Given the description of an element on the screen output the (x, y) to click on. 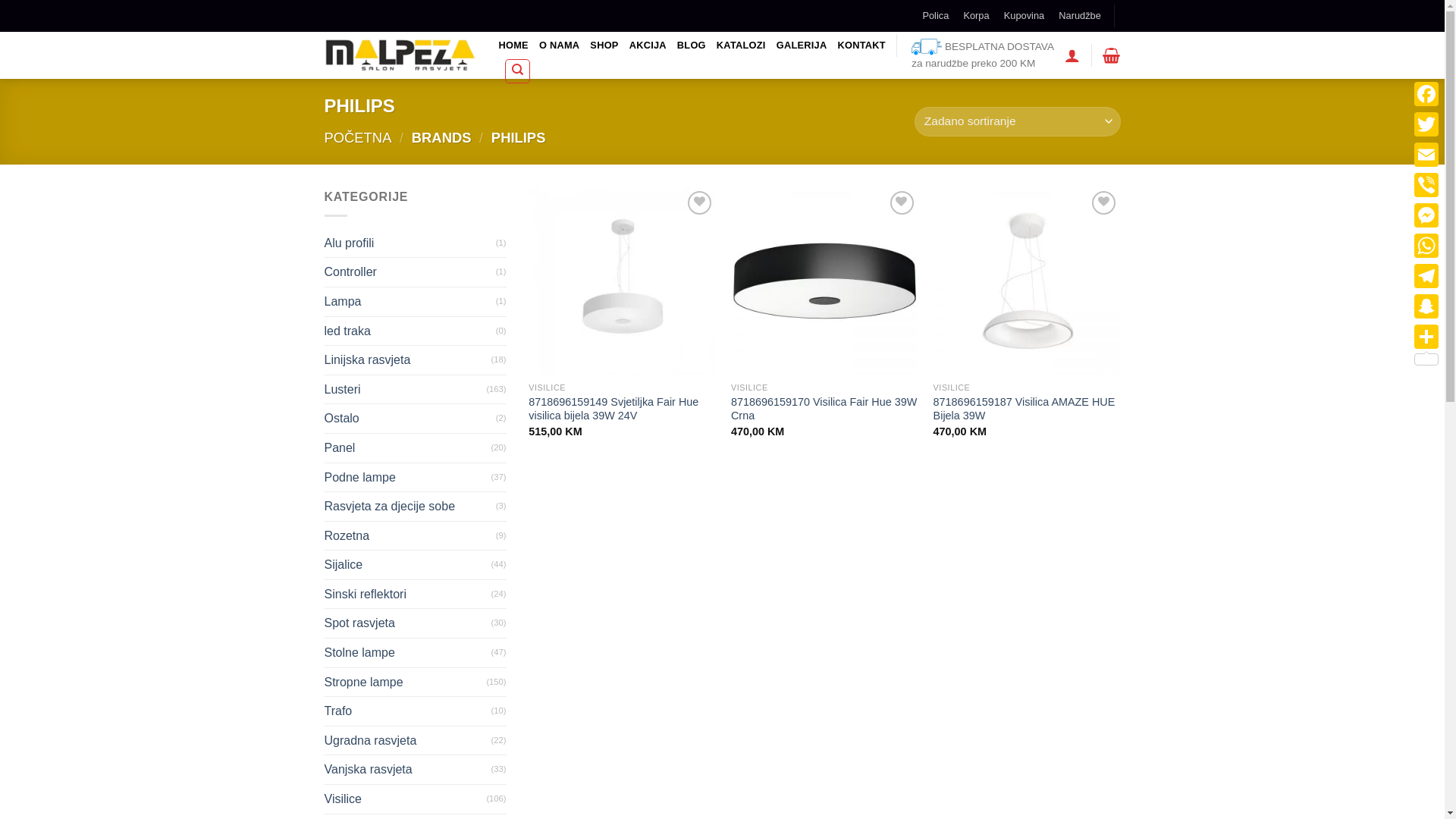
Stropne lampe Element type: text (405, 682)
Rasvjeta za djecije sobe Element type: text (409, 506)
Snapchat Element type: text (1426, 306)
Trafo Element type: text (407, 710)
KONTAKT Element type: text (860, 45)
8718696159170 Visilica Fair Hue 39W Crna Element type: text (824, 409)
Linijska rasvjeta Element type: text (407, 359)
SHOP Element type: text (603, 45)
Lampa Element type: text (409, 301)
Alu profili Element type: text (409, 243)
Spot rasvjeta Element type: text (407, 622)
Share Element type: text (1426, 344)
Lusteri Element type: text (405, 389)
Ostalo Element type: text (409, 418)
Visilice Element type: text (405, 798)
Sinski reflektori Element type: text (407, 594)
O NAMA Element type: text (559, 45)
WhatsApp Element type: text (1426, 245)
Korpa Element type: text (976, 15)
Polica Element type: text (935, 15)
Podne lampe Element type: text (407, 477)
8718696159149 Svjetiljka Fair Hue visilica bijela 39W 24V Element type: text (621, 409)
Sijalice Element type: text (407, 564)
Rozetna Element type: text (409, 535)
led traka Element type: text (409, 330)
Vanjska rasvjeta Element type: text (407, 769)
GALERIJA Element type: text (801, 45)
Telegram Element type: text (1426, 275)
Facebook Element type: text (1426, 93)
Viber Element type: text (1426, 184)
AKCIJA Element type: text (647, 45)
Twitter Element type: text (1426, 124)
8718696159187 Visilica AMAZE HUE Bijela 39W Element type: text (1026, 409)
Messenger Element type: text (1426, 215)
Ugradna rasvjeta Element type: text (407, 740)
Email Element type: text (1426, 154)
Panel Element type: text (407, 447)
BLOG Element type: text (691, 45)
Korpa Element type: hover (1111, 55)
HOME Element type: text (513, 45)
Stolne lampe Element type: text (407, 652)
Kupovina Element type: text (1023, 15)
Controller Element type: text (409, 271)
KATALOZI Element type: text (740, 45)
